Given the description of an element on the screen output the (x, y) to click on. 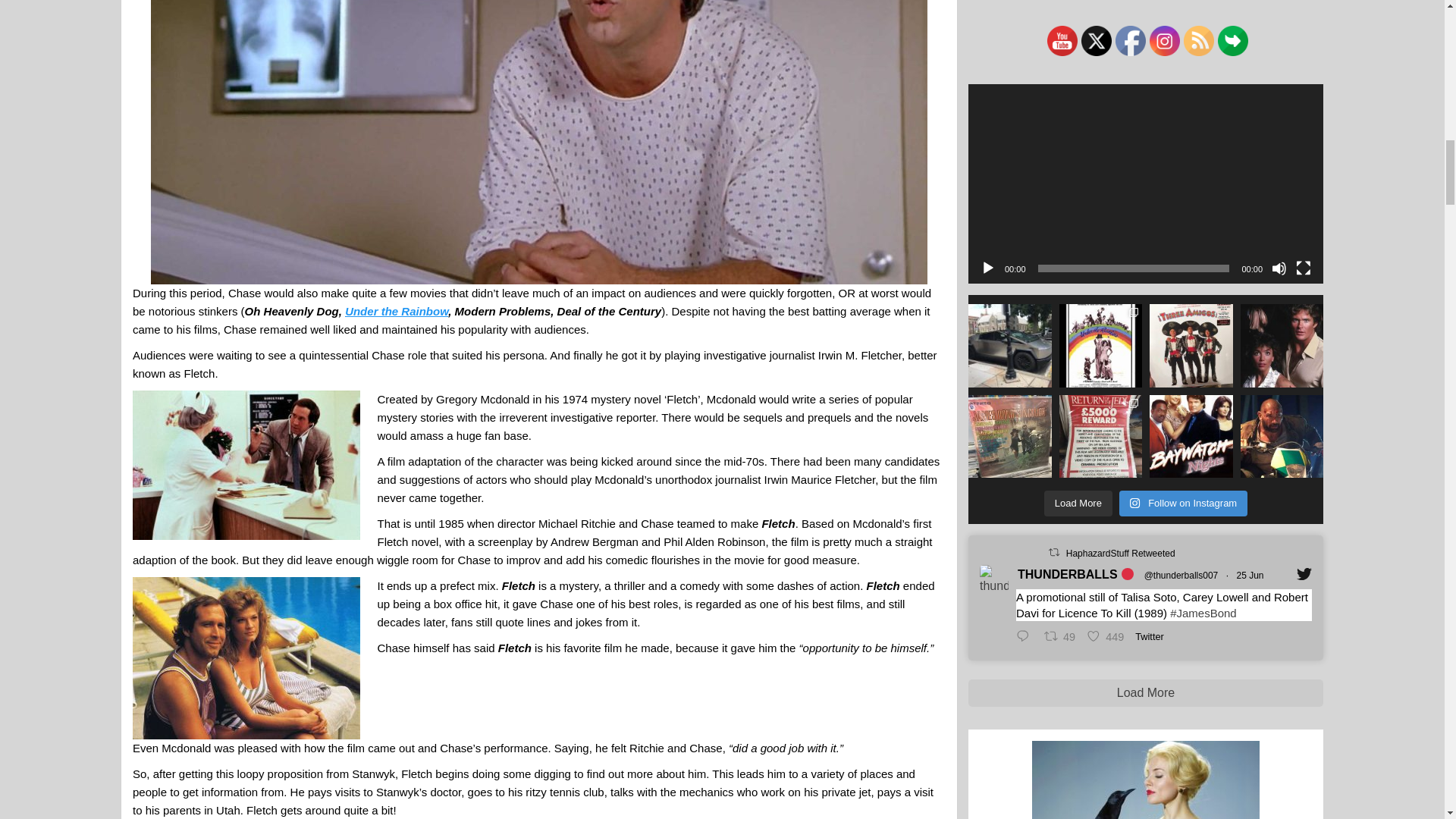
Under the Rainbow (396, 310)
Search (1261, 601)
Search (1261, 601)
